Given the description of an element on the screen output the (x, y) to click on. 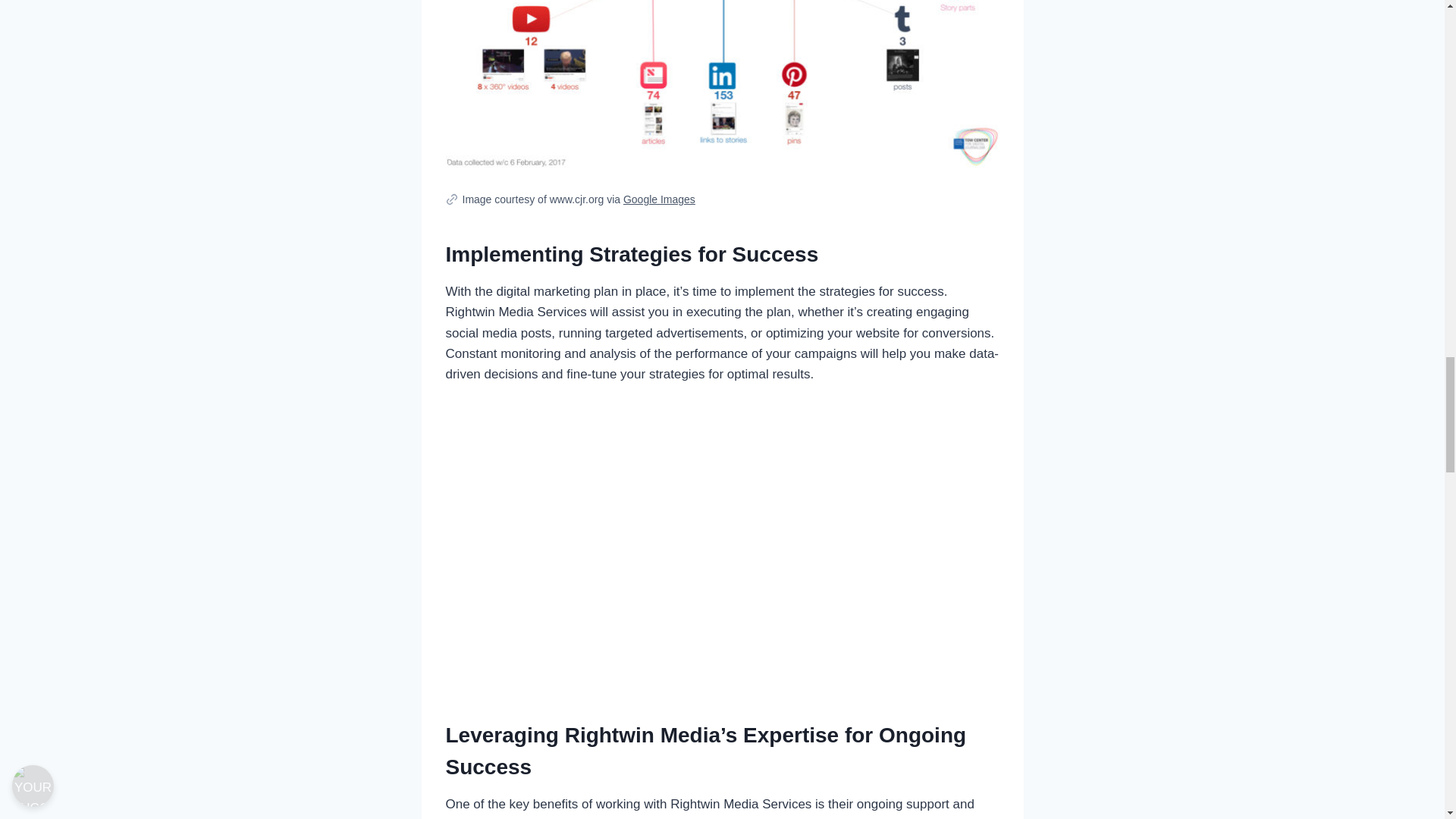
Google Images (659, 199)
